Given the description of an element on the screen output the (x, y) to click on. 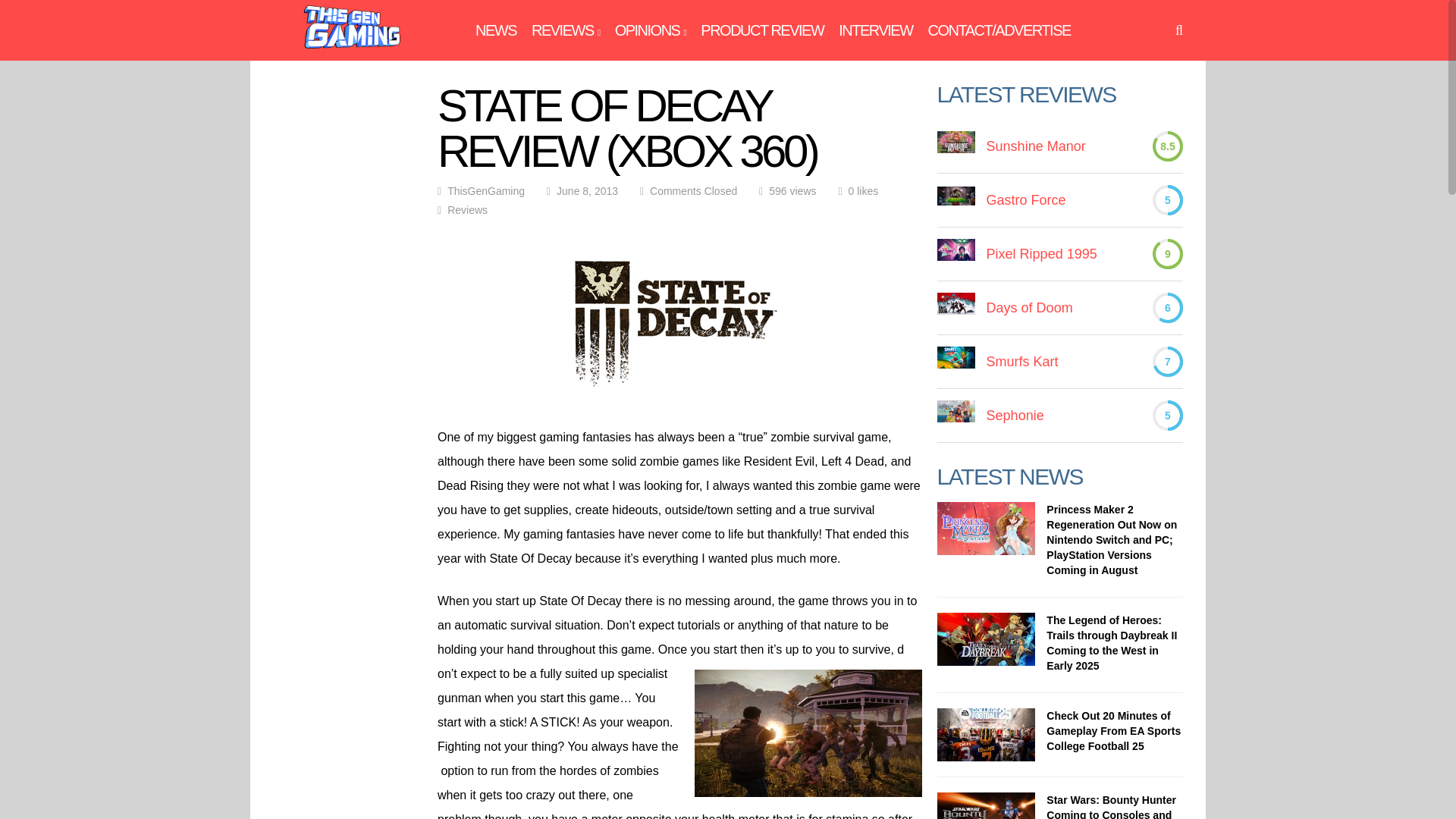
REVIEWS (565, 29)
NEWS (496, 29)
PRODUCT REVIEW (762, 29)
Sunshine Manor (956, 146)
ThisGenGaming (485, 191)
OPINIONS (649, 29)
ThisGenGaming (355, 72)
Sunshine Manor (1036, 145)
Reviews (466, 209)
INTERVIEW (875, 29)
